Given the description of an element on the screen output the (x, y) to click on. 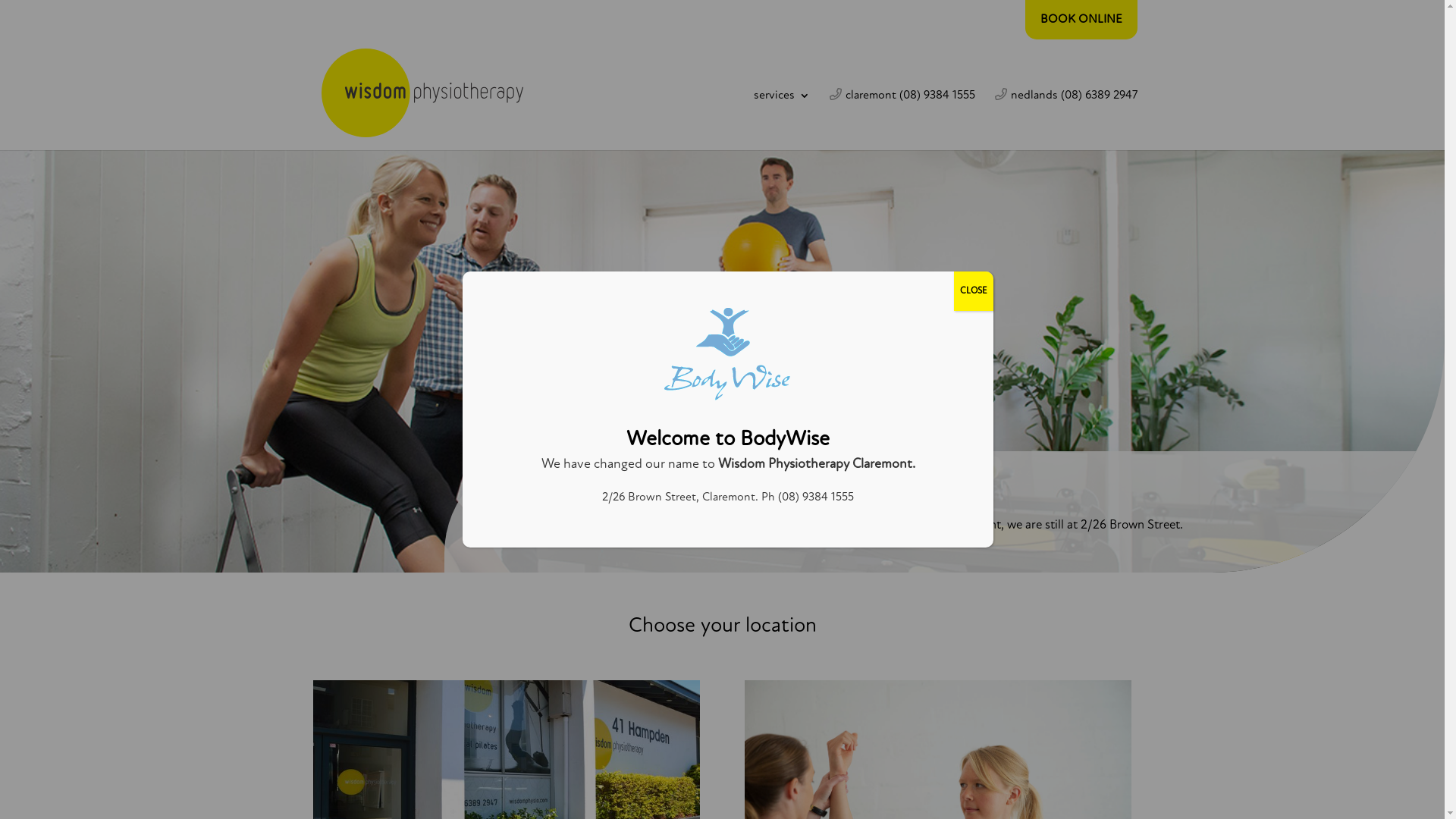
CLOSE Element type: text (973, 290)
BOOK ONLINE Element type: text (1081, 19)
claremont (08) 9384 1555 Element type: text (902, 119)
services Element type: text (781, 120)
nedlands (08) 6389 2947 Element type: text (1065, 119)
